Given the description of an element on the screen output the (x, y) to click on. 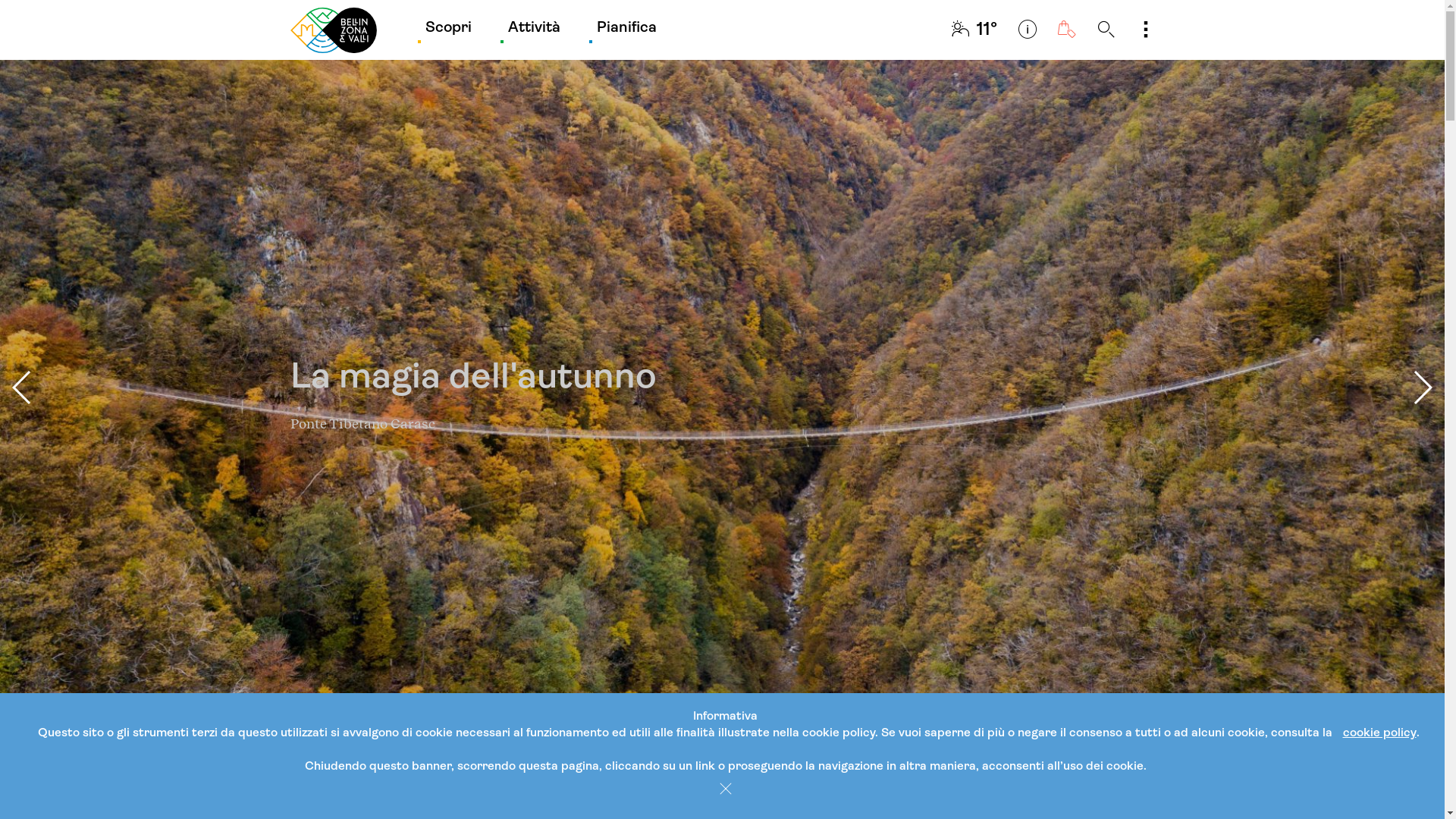
Shop Element type: hover (1066, 30)
bellinzonaevalli.ch Element type: hover (332, 30)
La magia dell'autunno Element type: hover (722, 387)
Scopri Element type: text (447, 30)
Info Element type: hover (1026, 30)
cookie policy Element type: text (1378, 732)
Search Element type: hover (1105, 30)
Pianifica Element type: text (625, 30)
